Given the description of an element on the screen output the (x, y) to click on. 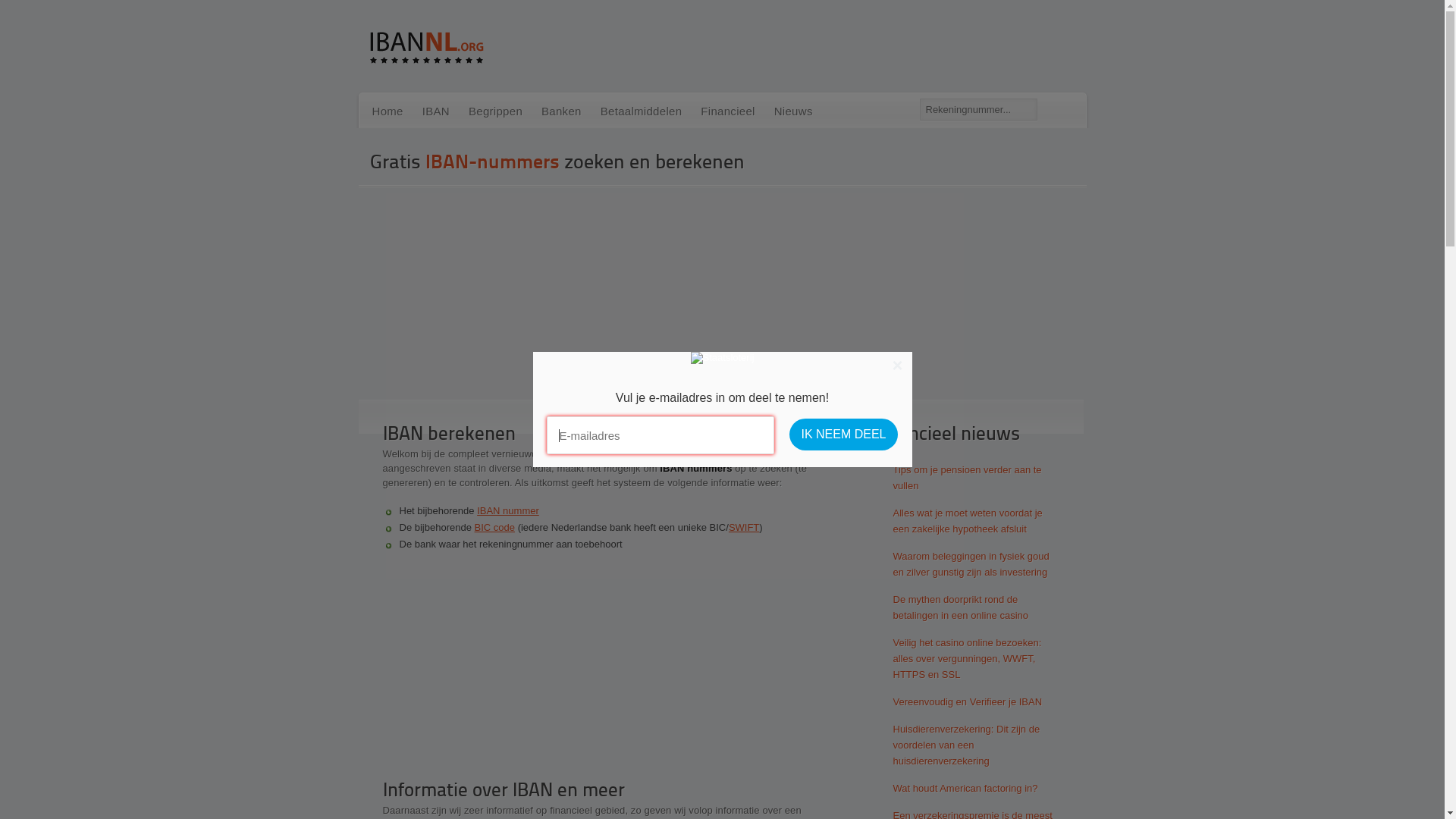
BIC code Element type: text (494, 527)
Vereenvoudig en Verifieer je IBAN Element type: text (957, 701)
Begrippen Element type: text (495, 112)
Home Element type: text (387, 112)
IBAN nummer Element type: text (507, 510)
Advertisement Element type: hover (603, 670)
SWIFT Element type: text (743, 527)
De mythen doorprikt rond de betalingen in een online casino Element type: text (957, 606)
Nieuws Element type: text (793, 112)
Advertisement Element type: hover (721, 293)
Betaalmiddelen Element type: text (641, 112)
IBAN Element type: text (435, 112)
Financieel Element type: text (727, 112)
Tips om je pensioen verder aan te vullen Element type: text (957, 476)
Wat houdt American factoring in? Element type: text (957, 787)
Banken Element type: text (561, 112)
